Given the description of an element on the screen output the (x, y) to click on. 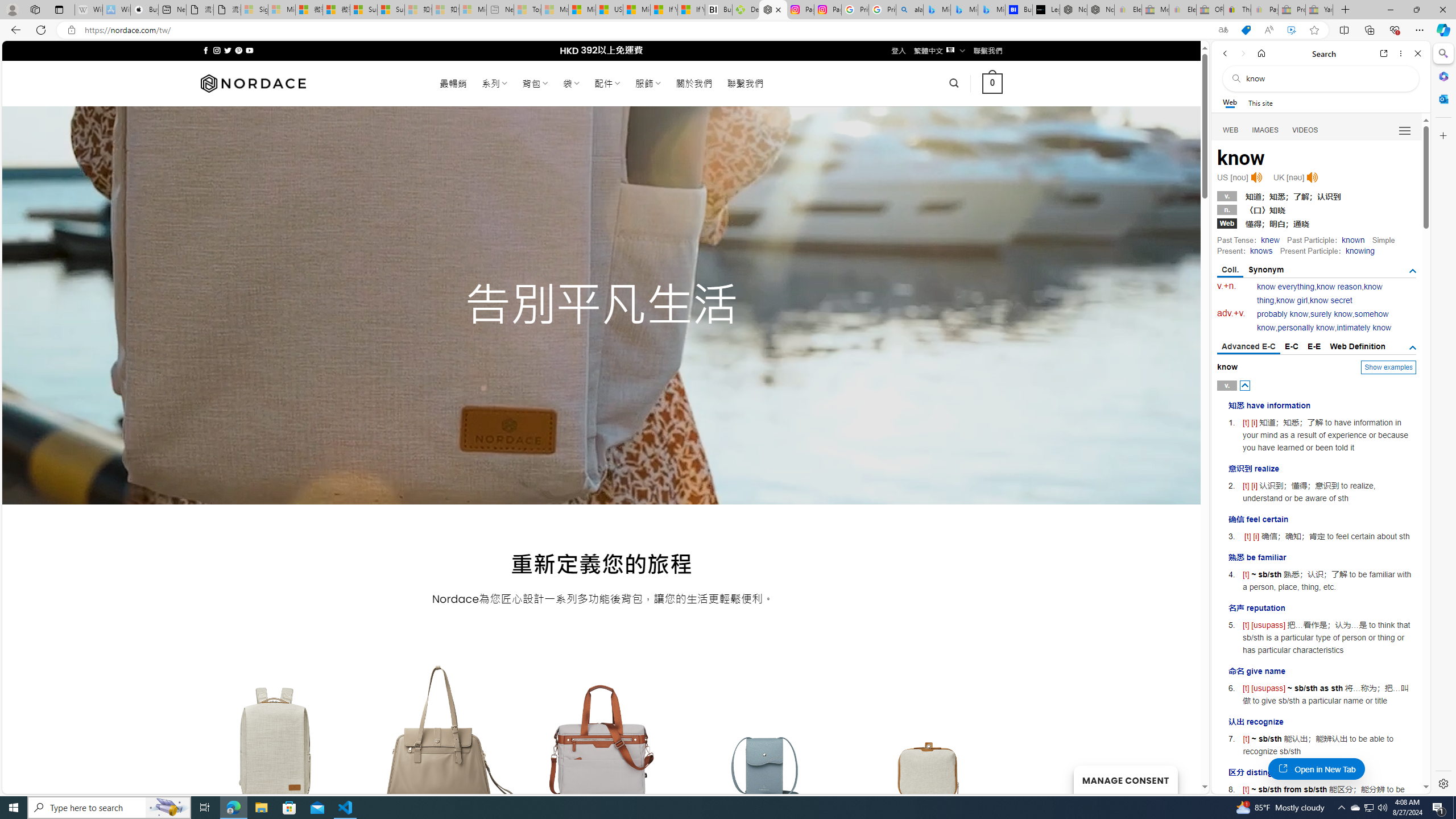
Search Filter, IMAGES (1265, 129)
Follow on Pinterest (237, 50)
intimately know (1363, 327)
Show translate options (1222, 29)
Search Filter, WEB (1231, 129)
